Given the description of an element on the screen output the (x, y) to click on. 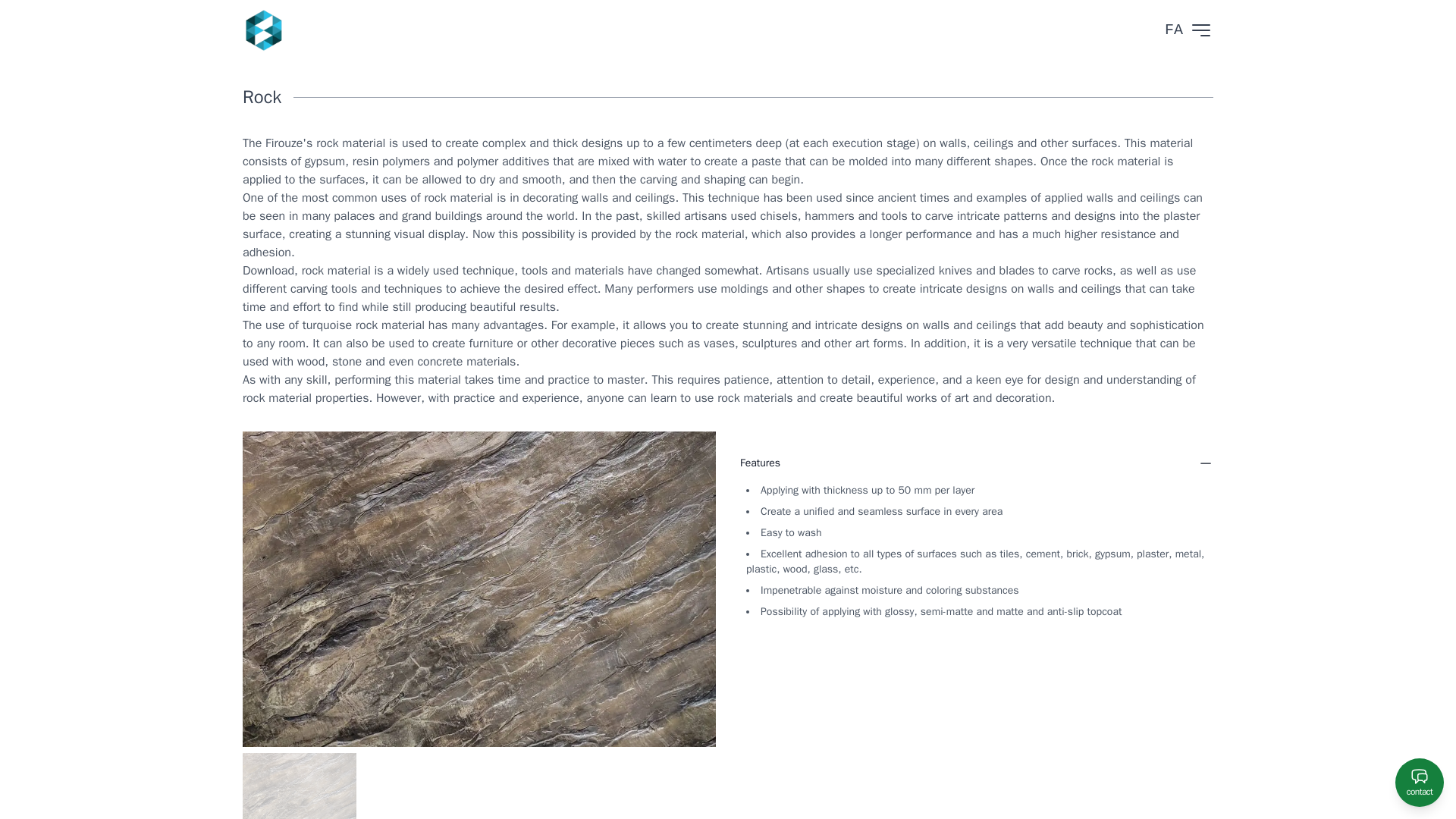
Features (975, 462)
FA (1173, 29)
contact (1419, 782)
Open Menu (1200, 30)
